Given the description of an element on the screen output the (x, y) to click on. 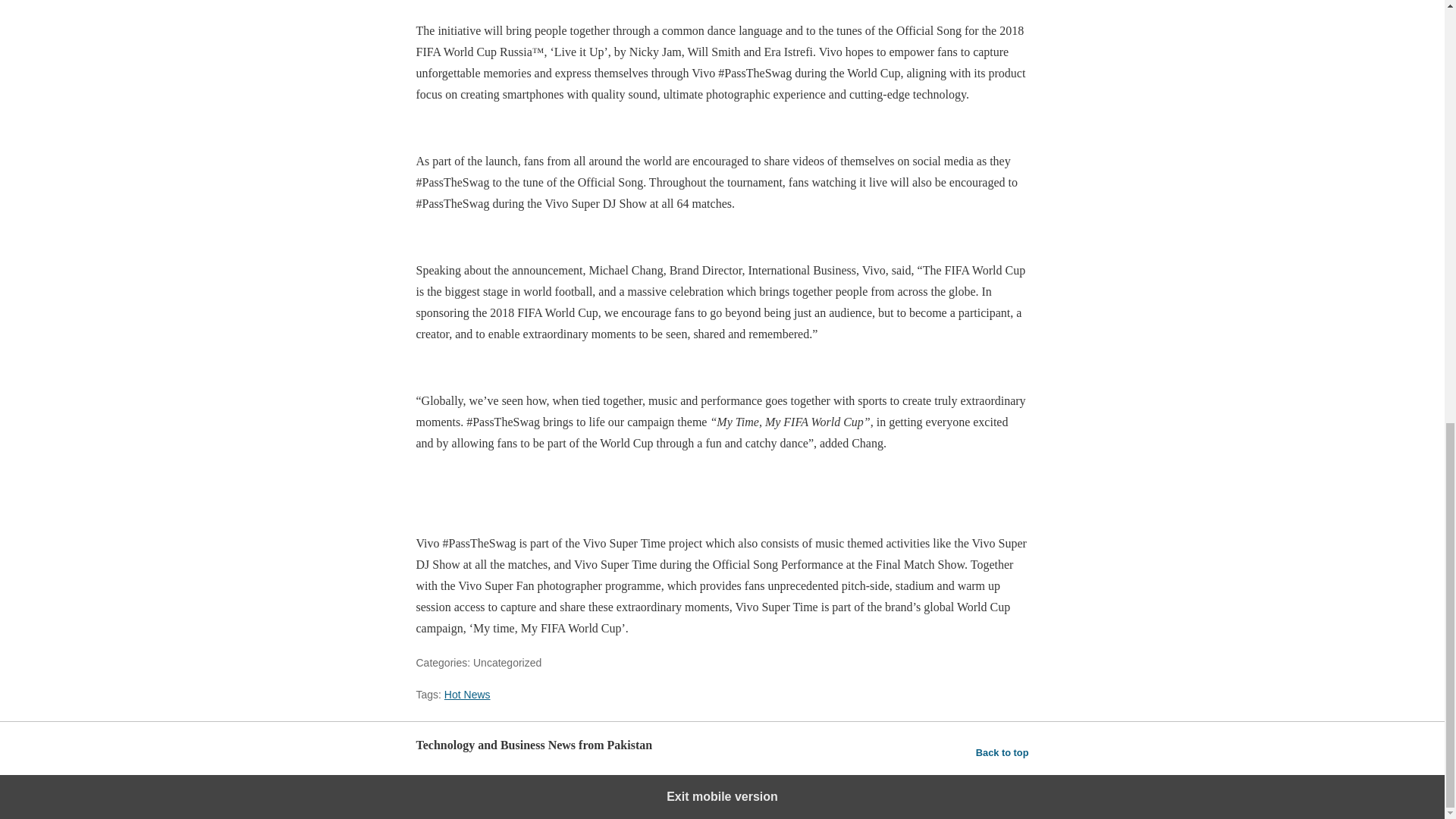
Hot News (467, 694)
Back to top (1002, 752)
